Given the description of an element on the screen output the (x, y) to click on. 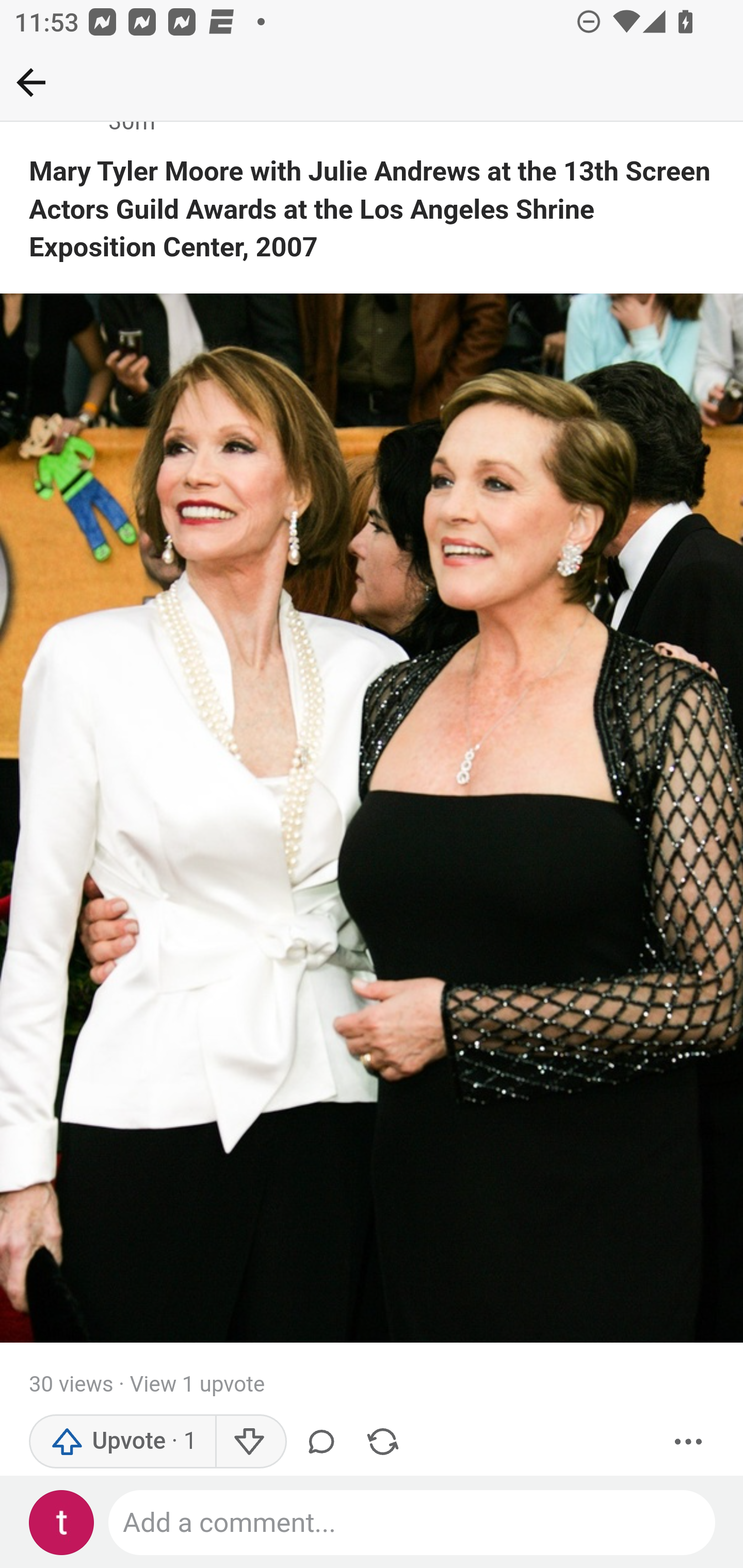
Back (30, 82)
View 1 upvote (196, 1384)
Upvote (122, 1442)
Downvote (249, 1442)
Comment (324, 1442)
Share (382, 1442)
More (688, 1442)
Profile photo for Test Appium (61, 1523)
Add a comment... (412, 1523)
